Given the description of an element on the screen output the (x, y) to click on. 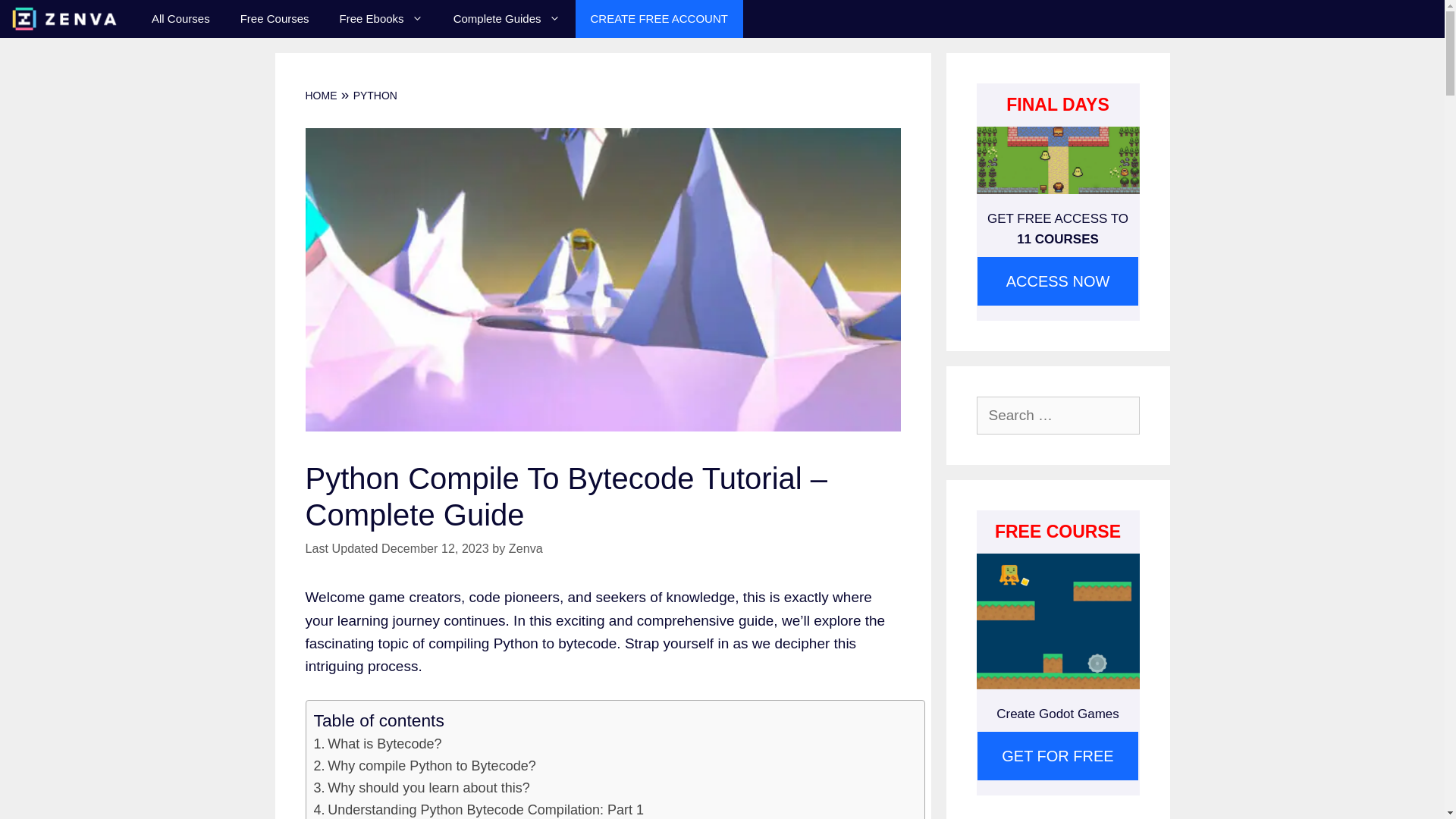
Why should you learn about this? (421, 788)
Understanding Python Bytecode Compilation: Part 1 (479, 809)
GameDev Academy (68, 18)
GameDev Academy (63, 18)
Why compile Python to Bytecode? (424, 766)
What is Bytecode? (378, 744)
View all posts by Zenva (525, 548)
